Given the description of an element on the screen output the (x, y) to click on. 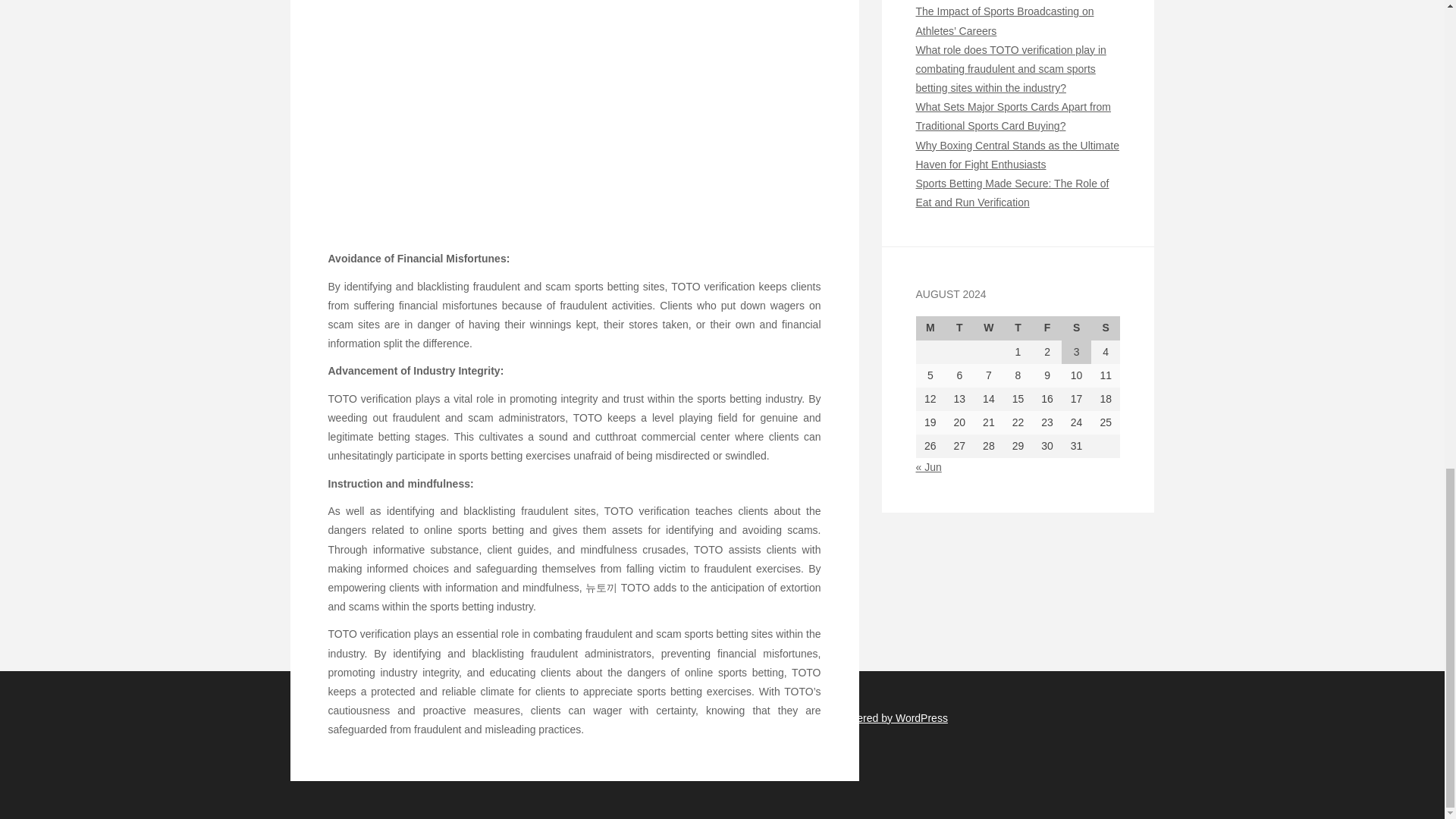
Monday (929, 327)
Wednesday (989, 327)
Tuesday (959, 327)
Thursday (1017, 327)
